Given the description of an element on the screen output the (x, y) to click on. 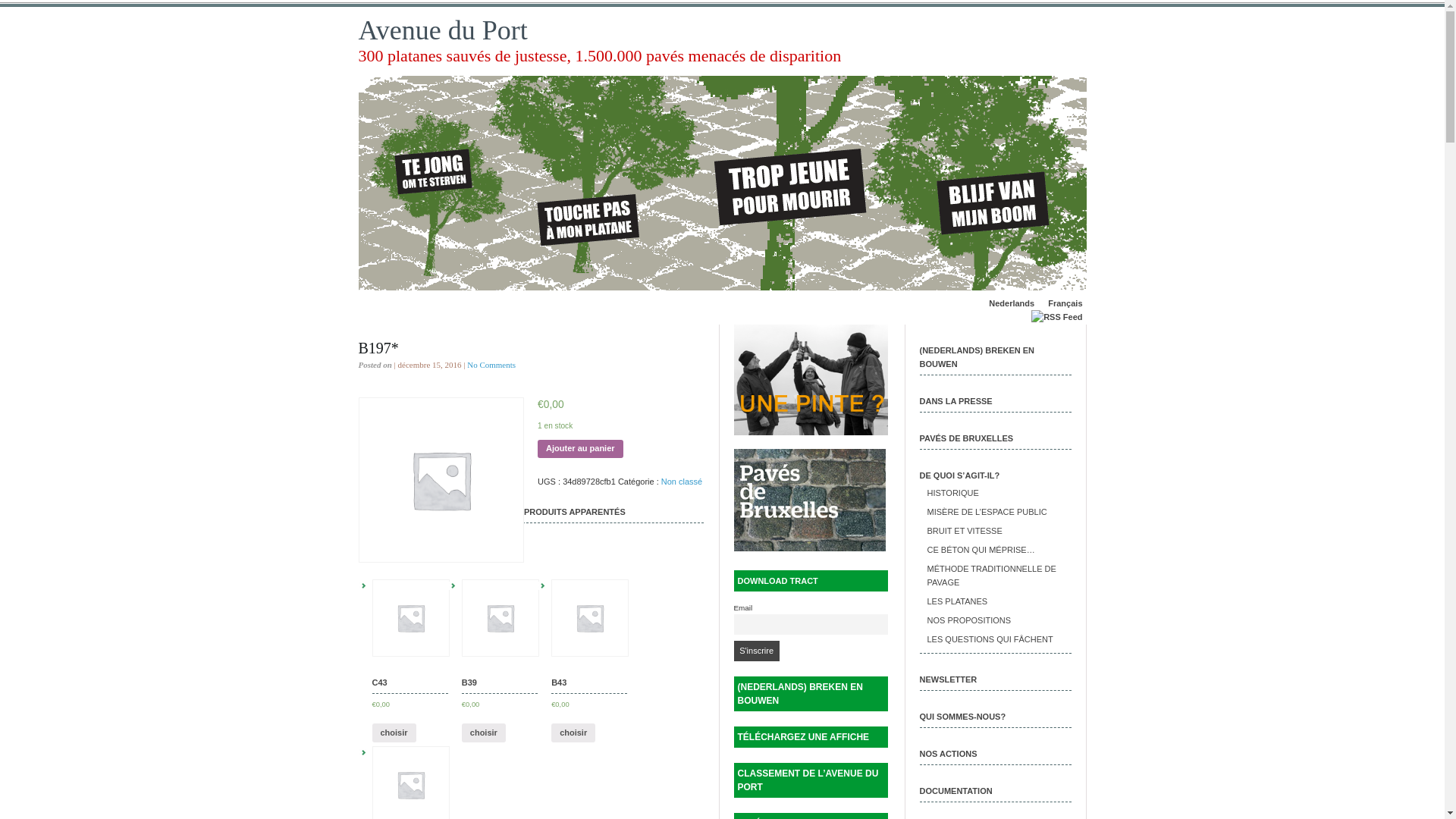
choisir Element type: text (393, 732)
NEWSLETTER Element type: text (947, 679)
BRUIT ET VITESSE Element type: text (963, 530)
(NEDERLANDS) BREKEN EN BOUWEN Element type: text (811, 693)
S'inscrire Element type: text (756, 650)
No Comments Element type: text (491, 364)
(NEDERLANDS) BREKEN EN BOUWEN Element type: text (976, 356)
B197* Element type: text (377, 347)
NOS PROPOSITIONS Element type: text (968, 619)
DANS LA PRESSE Element type: text (955, 400)
Syndicate this site using RSS Element type: hover (1056, 316)
Ajouter au panier Element type: text (579, 448)
RSS Feed Element type: hover (1056, 316)
DOCUMENTATION Element type: text (955, 790)
choisir Element type: text (573, 732)
HISTORIQUE Element type: text (952, 492)
NOS ACTIONS Element type: text (947, 753)
Nederlands Element type: text (1011, 302)
LES PLATANES Element type: text (956, 600)
choisir Element type: text (483, 732)
DOWNLOAD TRACT Element type: text (811, 580)
Avenue du Port Element type: text (442, 30)
QUI SOMMES-NOUS? Element type: text (962, 716)
